Given the description of an element on the screen output the (x, y) to click on. 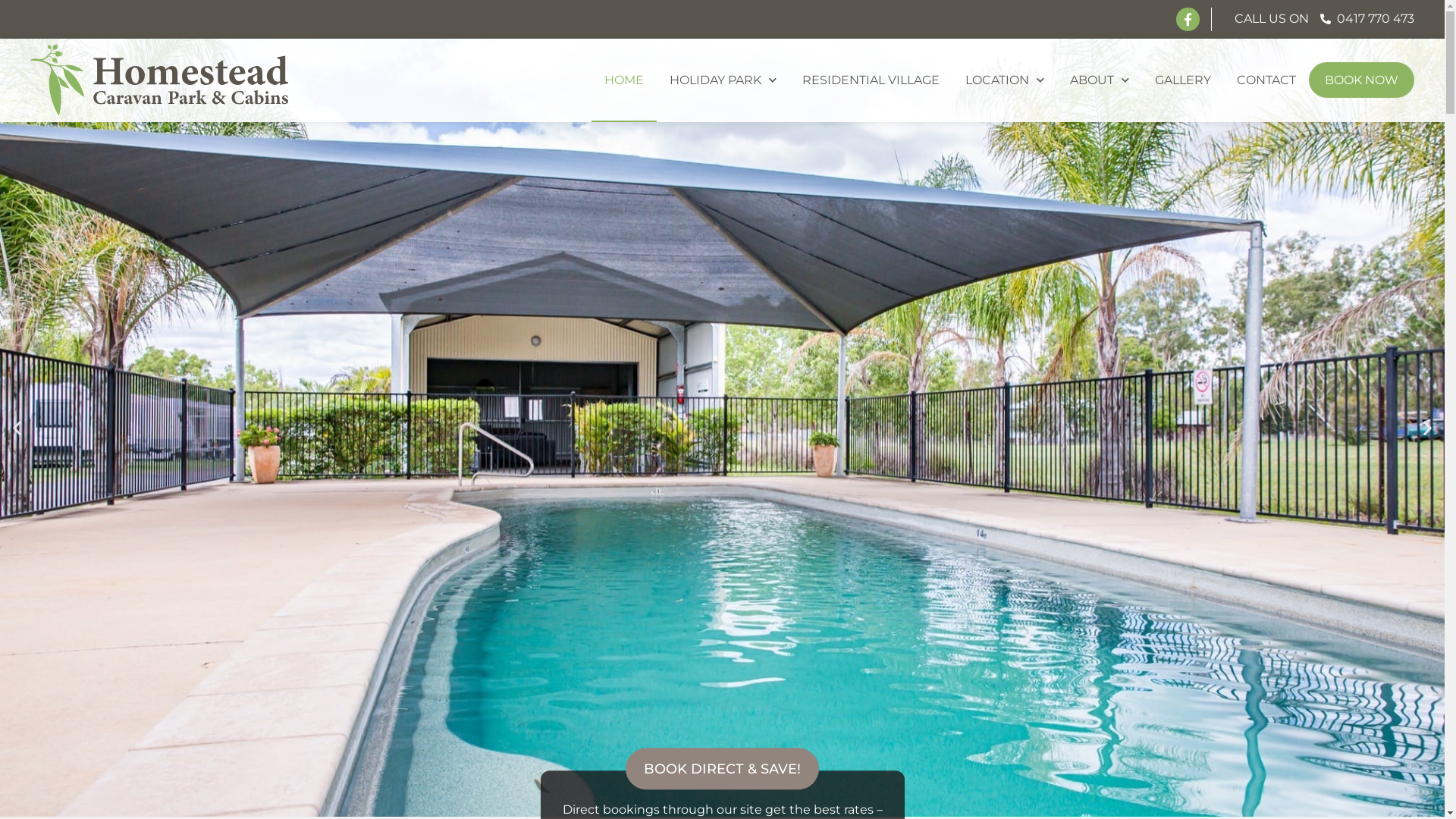
GALLERY Element type: text (1182, 80)
0417 770 473 Element type: text (1366, 18)
LOCATION Element type: text (1004, 80)
CONTACT Element type: text (1265, 80)
HOLIDAY PARK Element type: text (722, 80)
BOOK DIRECT & SAVE! Element type: text (721, 768)
RESIDENTIAL VILLAGE Element type: text (870, 80)
ABOUT Element type: text (1099, 80)
BOOK NOW Element type: text (1361, 79)
HOME Element type: text (623, 80)
